Given the description of an element on the screen output the (x, y) to click on. 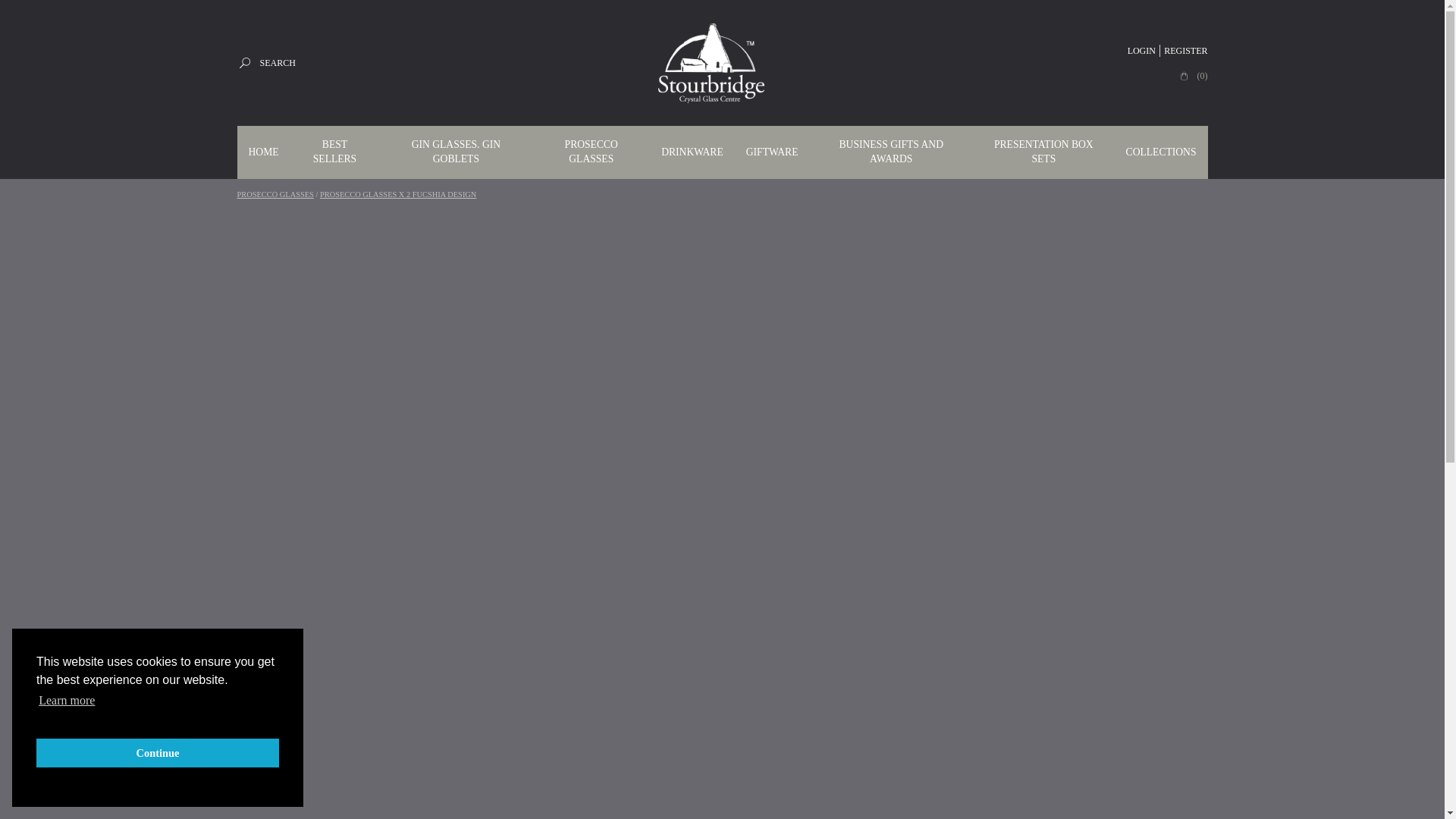
Continue (157, 752)
Learn more (66, 700)
